Given the description of an element on the screen output the (x, y) to click on. 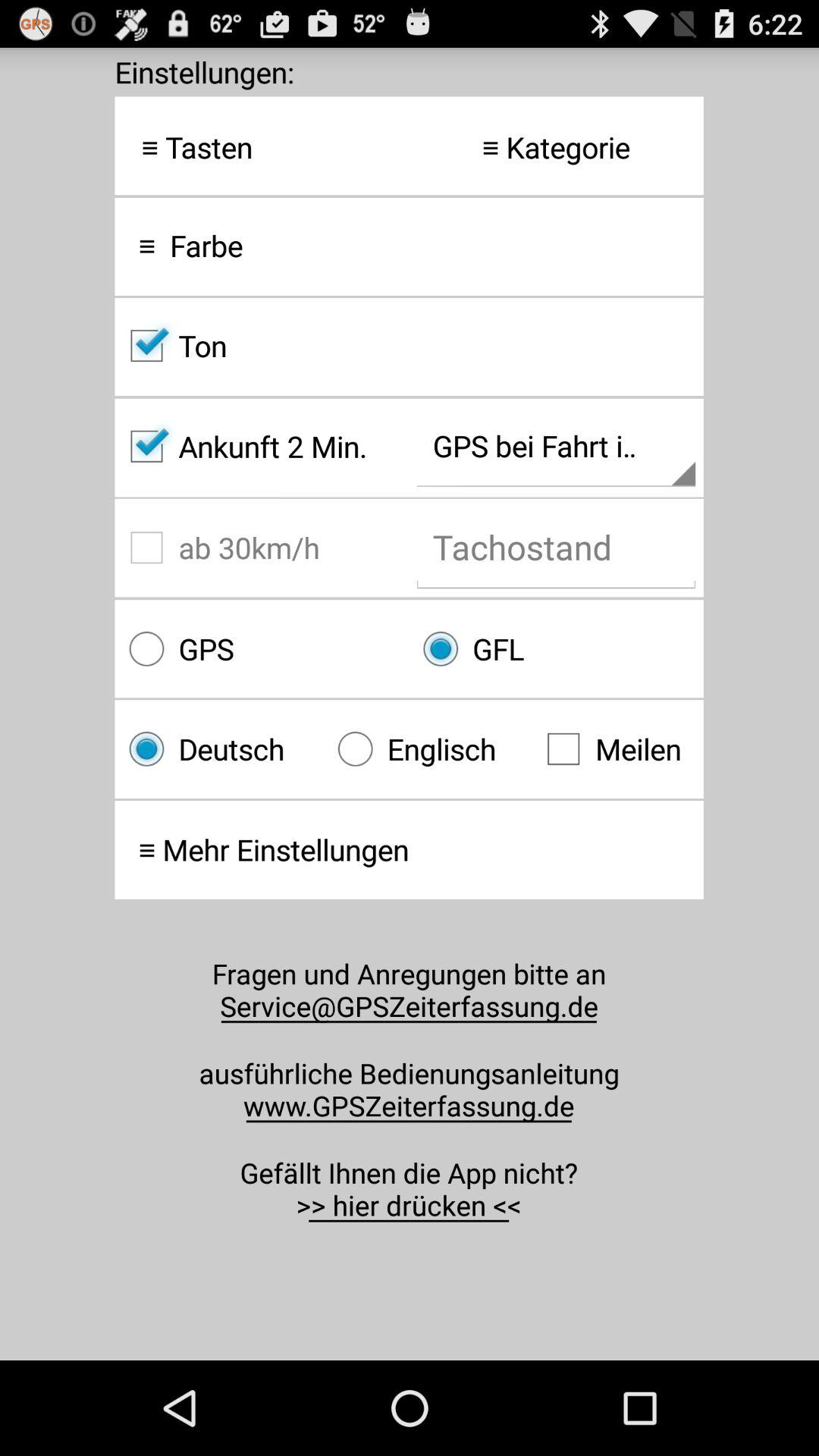
launch radio button to the right of deutsch item (427, 748)
